Given the description of an element on the screen output the (x, y) to click on. 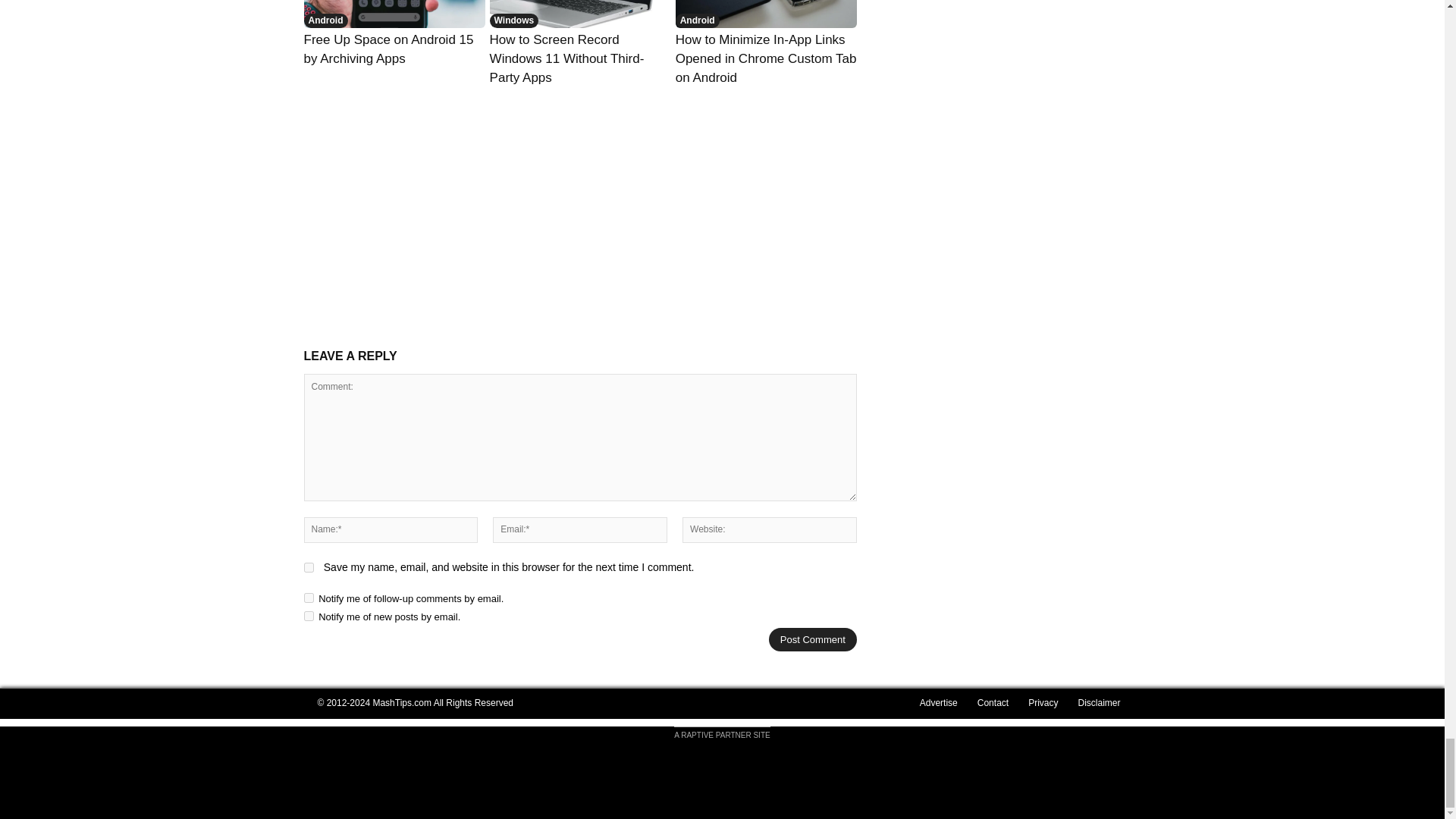
Post Comment (812, 639)
subscribe (307, 615)
subscribe (307, 597)
yes (307, 567)
